Given the description of an element on the screen output the (x, y) to click on. 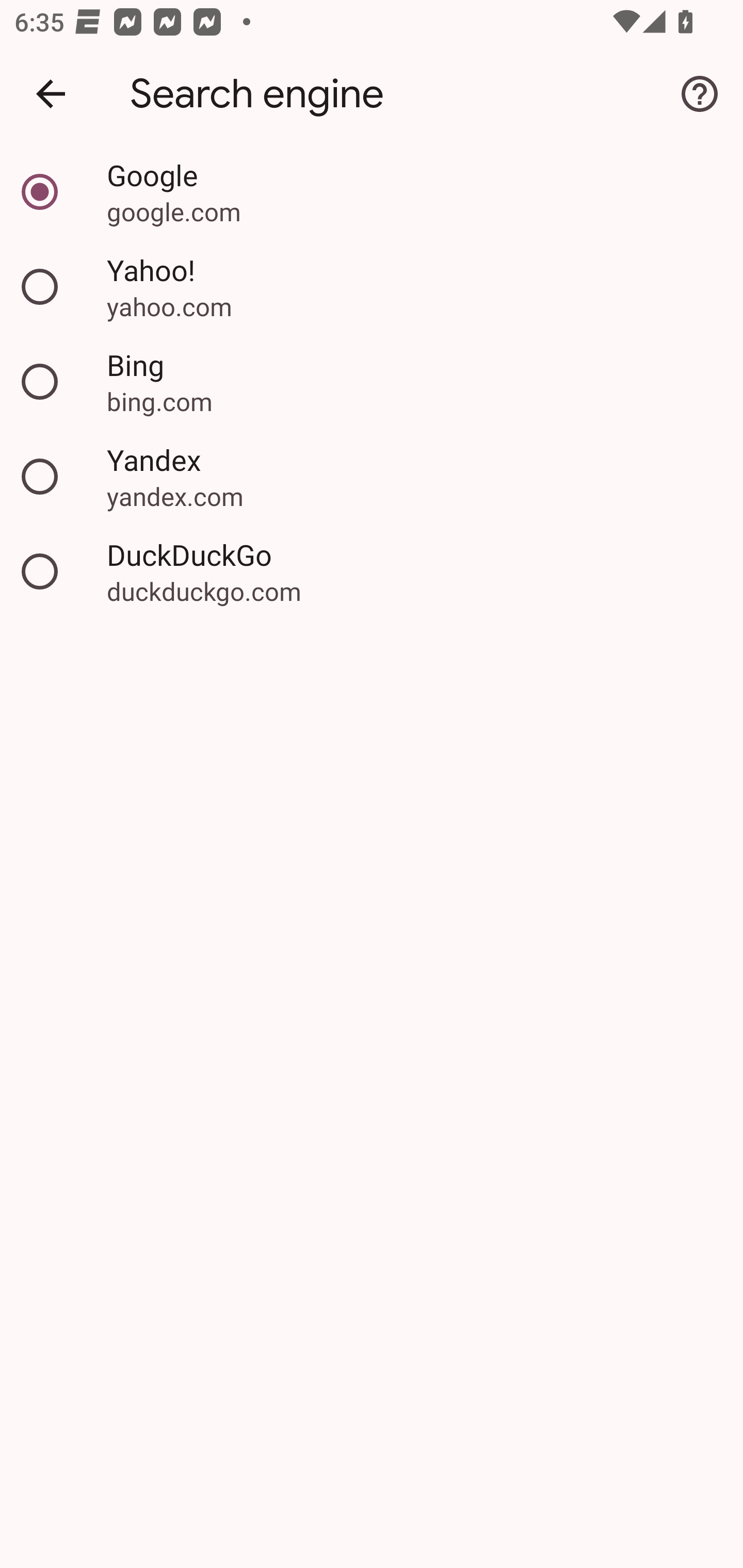
Navigate up (50, 93)
Help & feedback (699, 93)
Google google.com (371, 191)
Yahoo! yahoo.com (371, 286)
Bing bing.com (371, 381)
Yandex yandex.com (371, 476)
DuckDuckGo duckduckgo.com (371, 571)
